Given the description of an element on the screen output the (x, y) to click on. 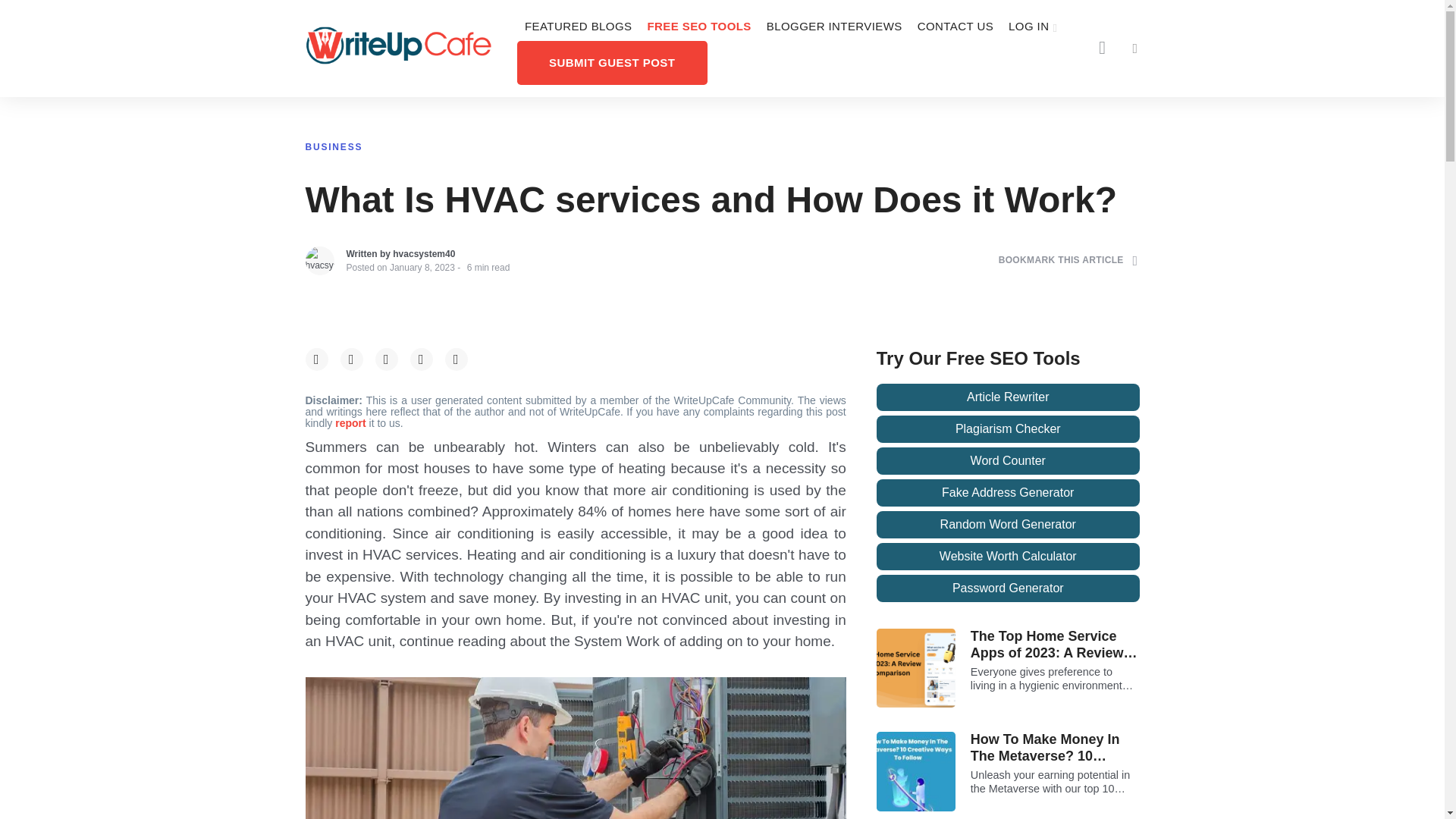
CONTACT US (955, 26)
CONTACT US (955, 26)
SUBMIT GUEST POST (611, 62)
BUSINESS (333, 146)
LOG IN (1032, 26)
BLOGGER INTERVIEWS (834, 26)
LOG IN (1032, 26)
FREE SEO TOOLS (698, 26)
January 8, 2023 (422, 267)
report (351, 422)
BOOKMARK THIS ARTICLE (1068, 260)
FREE SEO TOOLS (698, 26)
FEATURED BLOGS (577, 26)
FEATURED BLOGS (577, 26)
SUBMIT GUEST POST (611, 62)
